Given the description of an element on the screen output the (x, y) to click on. 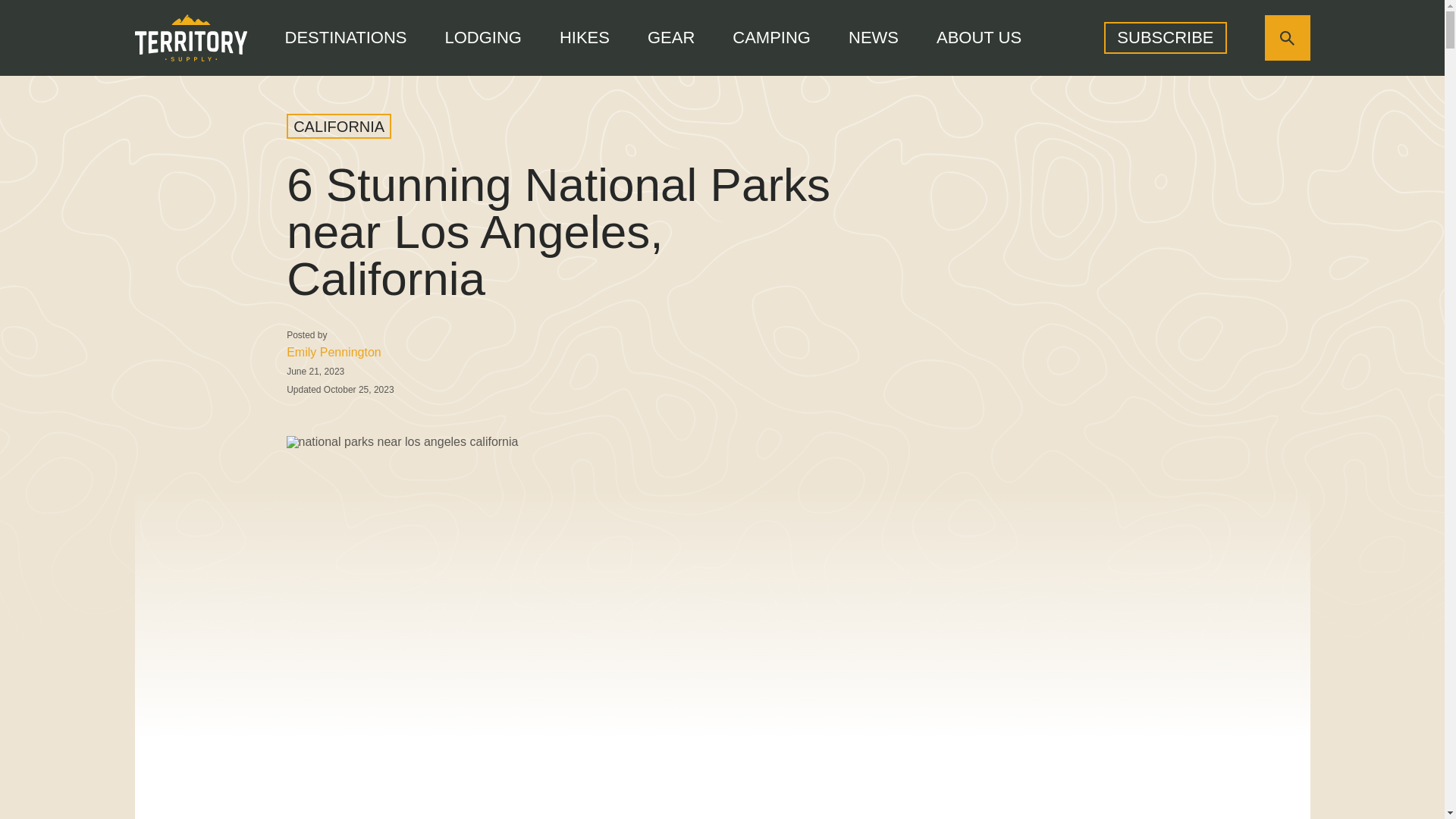
LODGING (482, 37)
HIKES (584, 37)
CAMPING (771, 37)
DESTINATIONS (346, 37)
GEAR (670, 37)
SUBSCRIBE (1164, 38)
NEWS (873, 37)
ABOUT US (979, 37)
